Given the description of an element on the screen output the (x, y) to click on. 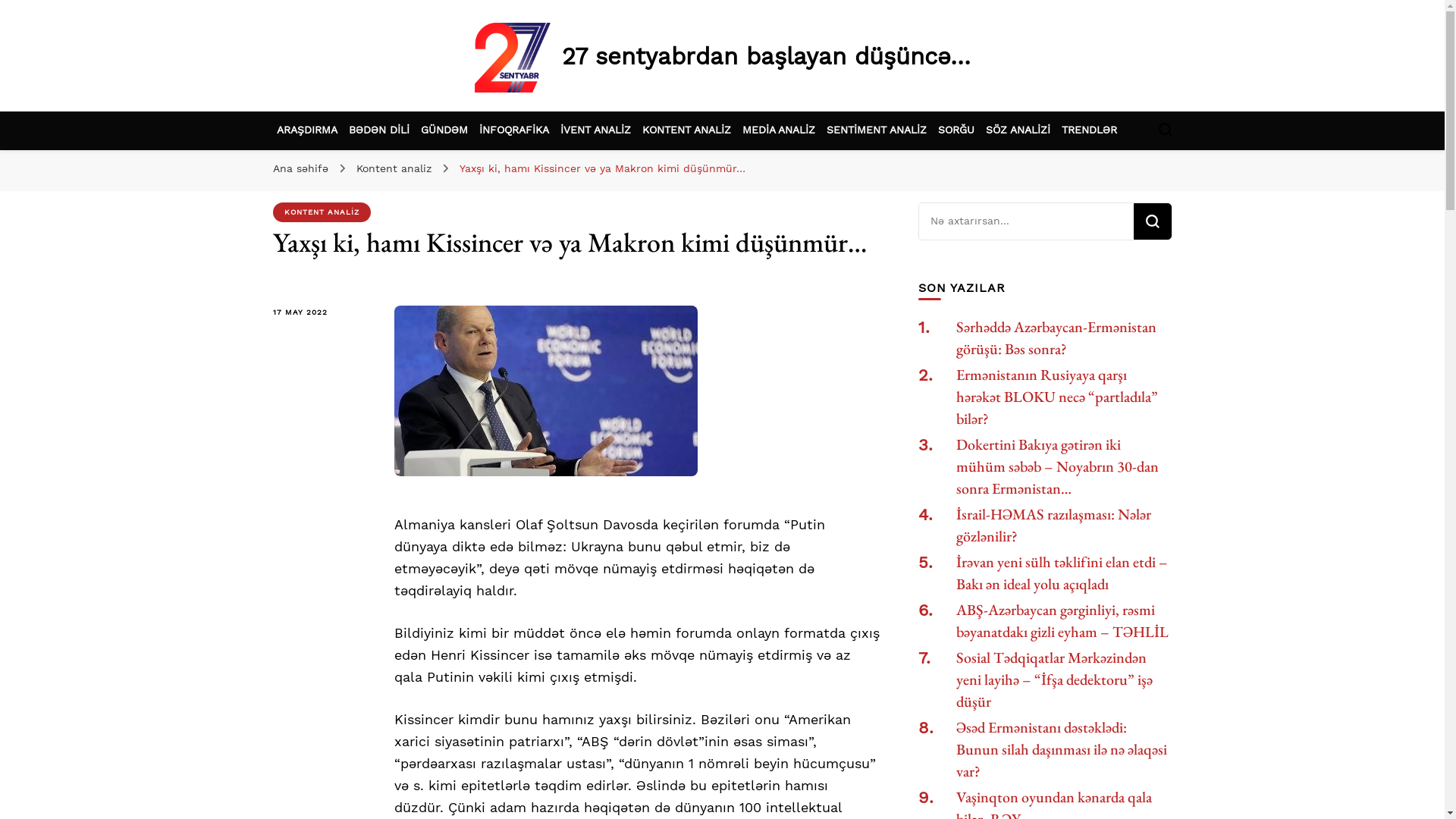
KONTENT ANALIZ Element type: text (685, 128)
Kontent analiz Element type: text (395, 168)
KONTENT ANALIZ Element type: text (321, 212)
SENTIMENT ANALIZ Element type: text (876, 128)
MEDIA ANALIZ Element type: text (777, 128)
17 MAY 2022 Element type: text (322, 312)
